Given the description of an element on the screen output the (x, y) to click on. 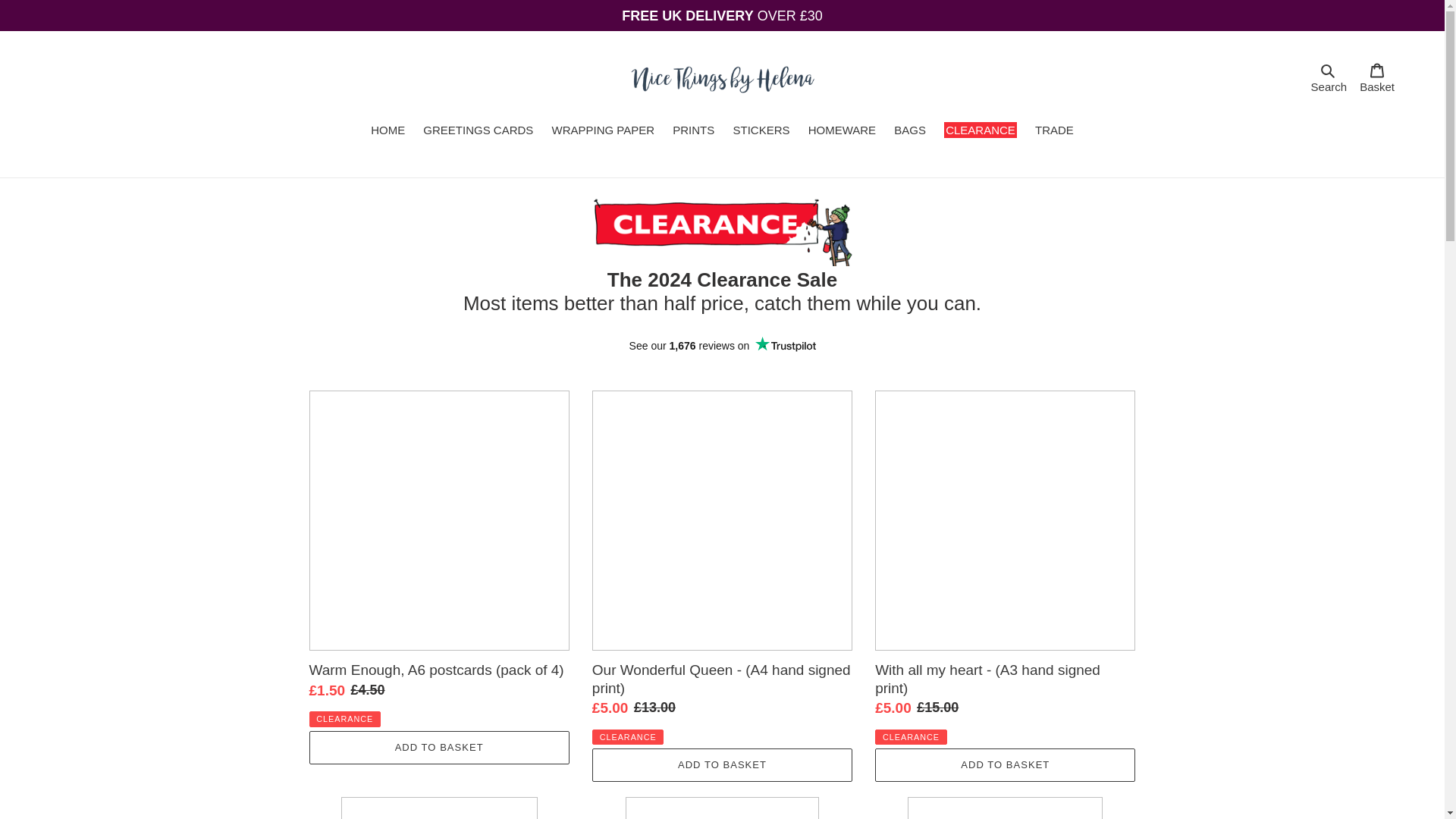
ADD TO BASKET (721, 765)
CLEARANCE (980, 131)
WRAPPING PAPER (603, 131)
HOME (387, 131)
Customer reviews powered by Trustpilot (721, 345)
GREETINGS CARDS (477, 131)
TRADE (1377, 78)
Pack of 5 Christmas cards - Baby Jesus (1054, 131)
ADD TO BASKET (438, 807)
HOMEWARE (438, 747)
ADD TO BASKET (1329, 78)
PRINTS (841, 131)
BAGS (1005, 765)
